Given the description of an element on the screen output the (x, y) to click on. 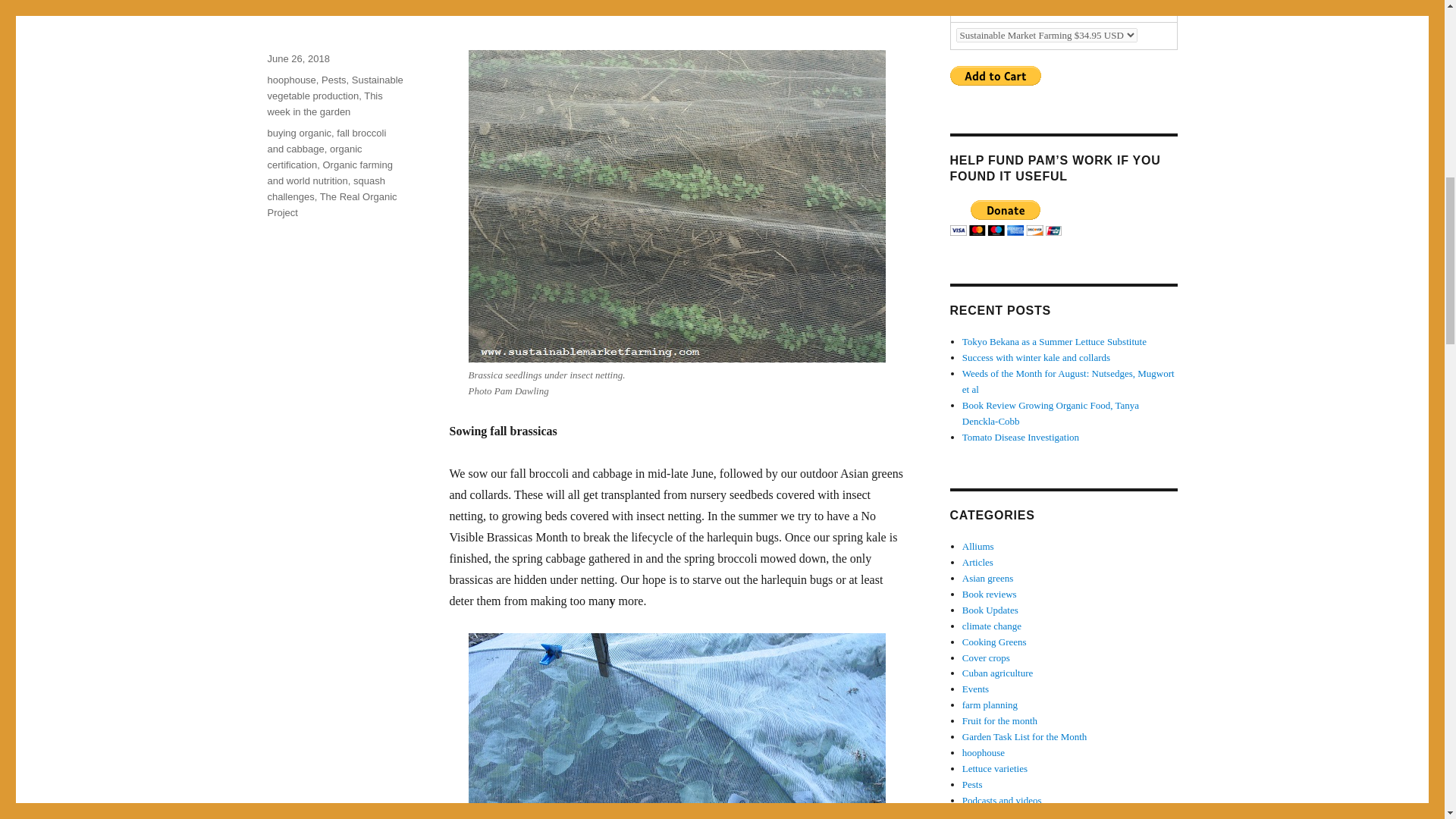
Sustainable vegetable production (334, 87)
Success with winter kale and collards (1035, 357)
buying organic (298, 132)
Weeds of the Month for August: Nutsedges, Mugwort et al (1068, 380)
Organic farming and world nutrition (328, 172)
June 26, 2018 (297, 58)
Book Review Growing Organic Food, Tanya Denckla-Cobb (1050, 412)
Tokyo Bekana as a Summer Lettuce Substitute (1054, 341)
This week in the garden (323, 103)
